Given the description of an element on the screen output the (x, y) to click on. 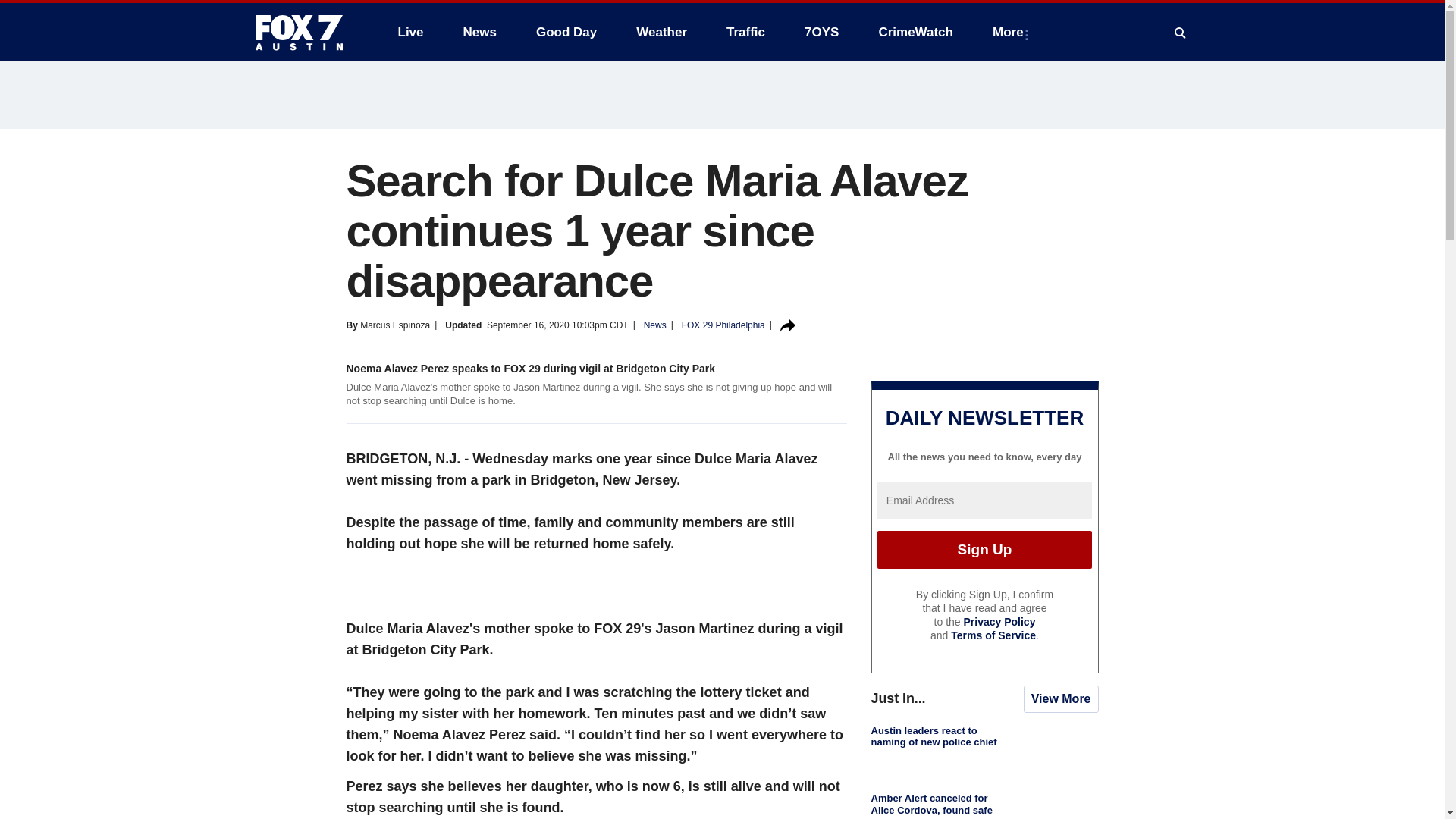
Live (410, 32)
CrimeWatch (915, 32)
Weather (661, 32)
More (1010, 32)
Good Day (566, 32)
News (479, 32)
7OYS (821, 32)
Sign Up (984, 549)
Traffic (745, 32)
